Given the description of an element on the screen output the (x, y) to click on. 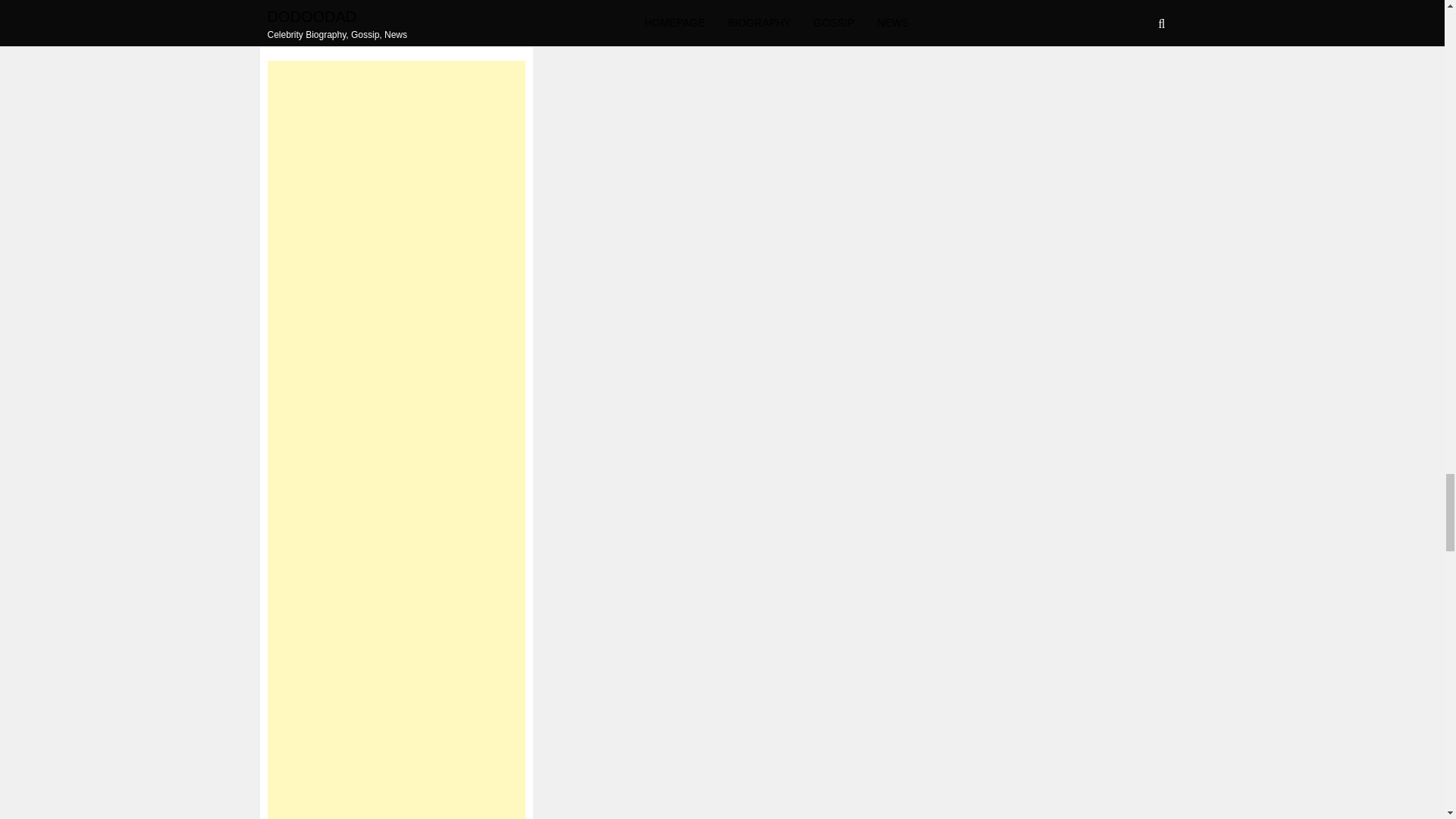
Advertisement (387, 9)
